Given the description of an element on the screen output the (x, y) to click on. 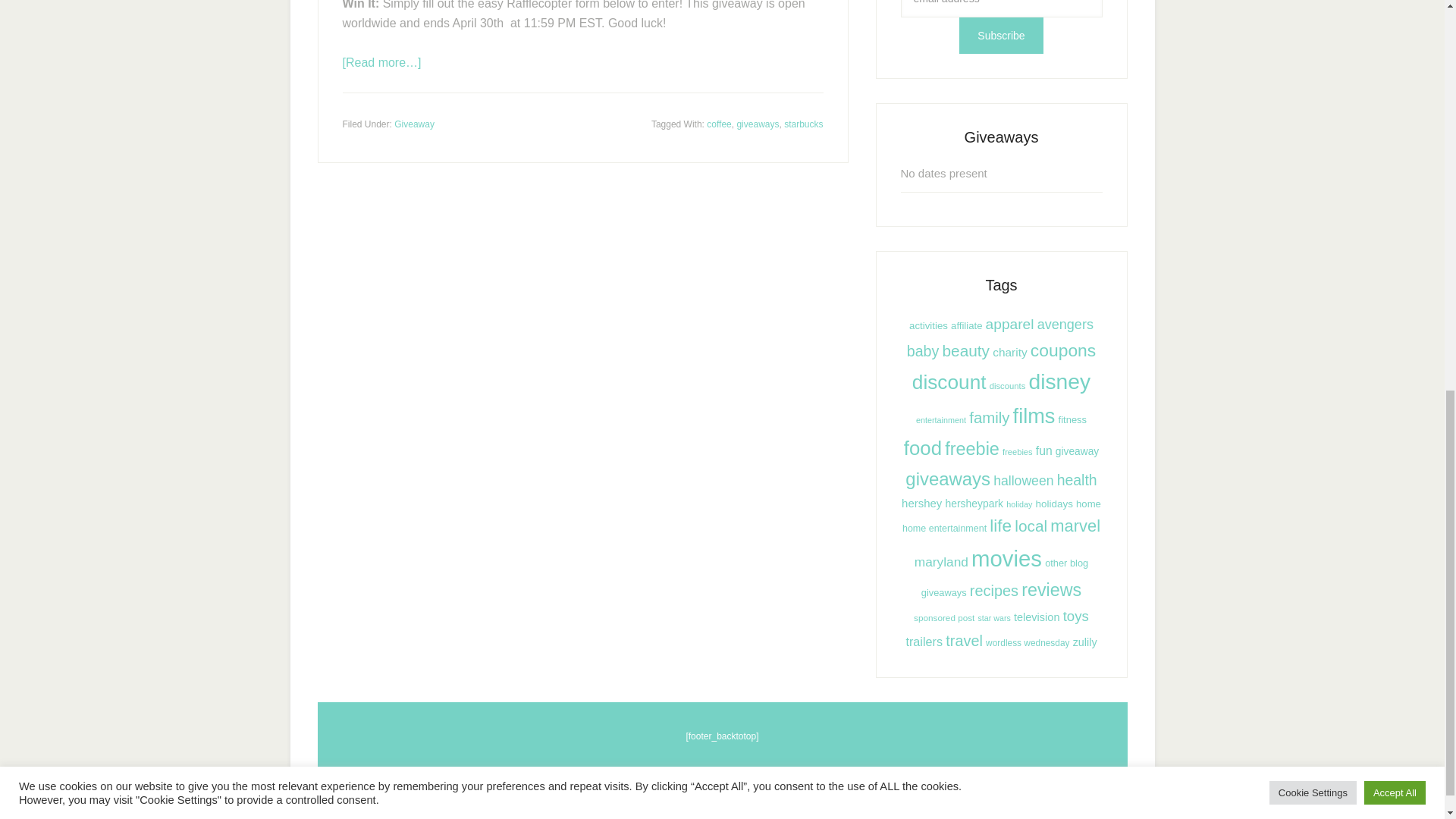
Subscribe (1000, 35)
coupons (1063, 350)
starbucks (803, 122)
Subscribe (1000, 35)
baby (923, 351)
coffee (718, 122)
apparel (1009, 324)
avengers (1064, 324)
activities (927, 325)
affiliate (965, 325)
Giveaway (413, 122)
giveaways (757, 122)
charity (1009, 351)
beauty (966, 350)
discount (949, 382)
